Given the description of an element on the screen output the (x, y) to click on. 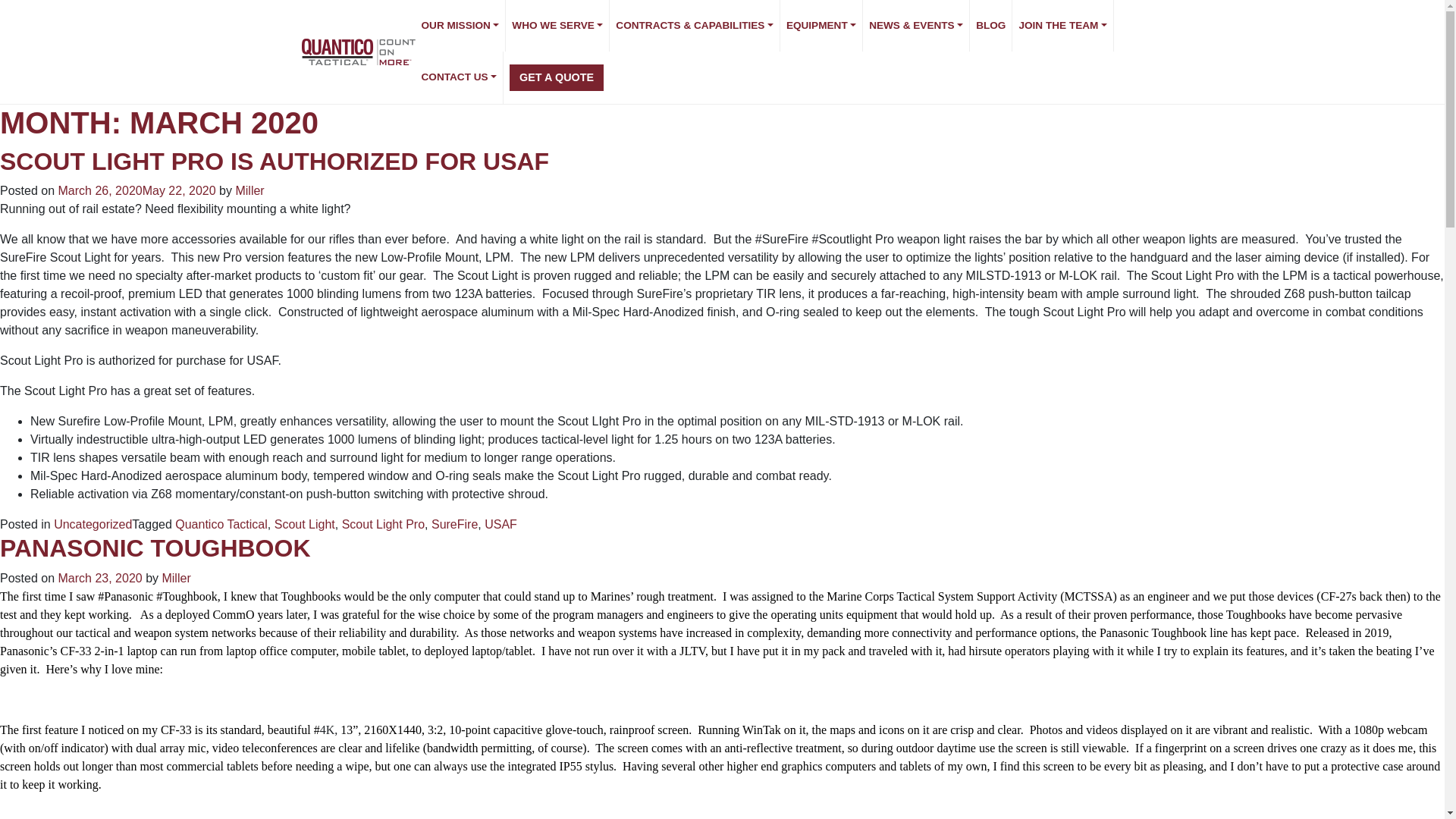
Miller (248, 190)
EQUIPMENT (821, 25)
SCOUT LIGHT PRO IS AUTHORIZED FOR USAF (274, 161)
Who We Serve (557, 25)
CONTACT US (458, 77)
WHO WE SERVE (557, 25)
OUR MISSION (460, 25)
Uncategorized (92, 523)
Our Mission (460, 25)
